Given the description of an element on the screen output the (x, y) to click on. 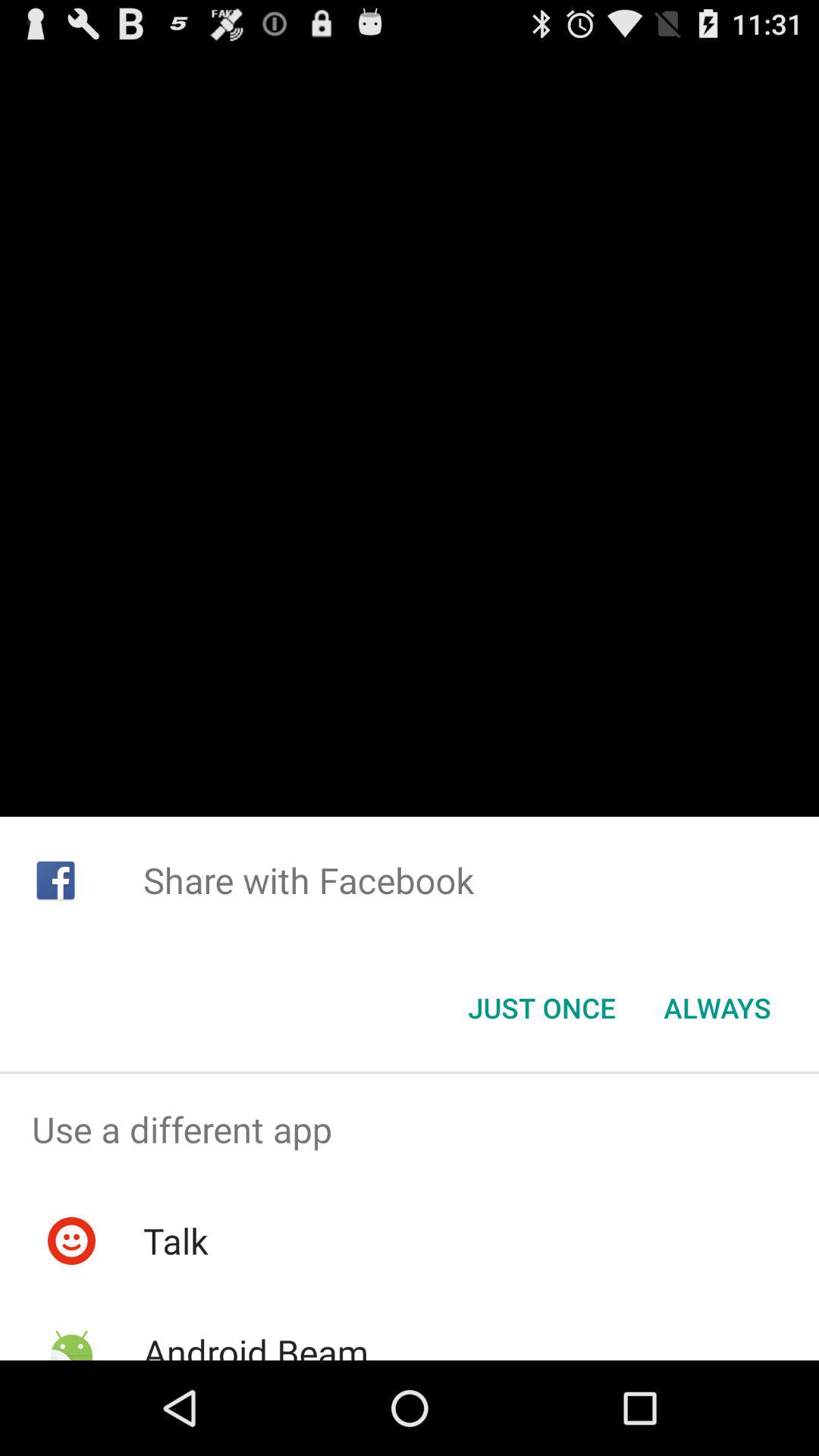
swipe to android beam item (255, 1344)
